Given the description of an element on the screen output the (x, y) to click on. 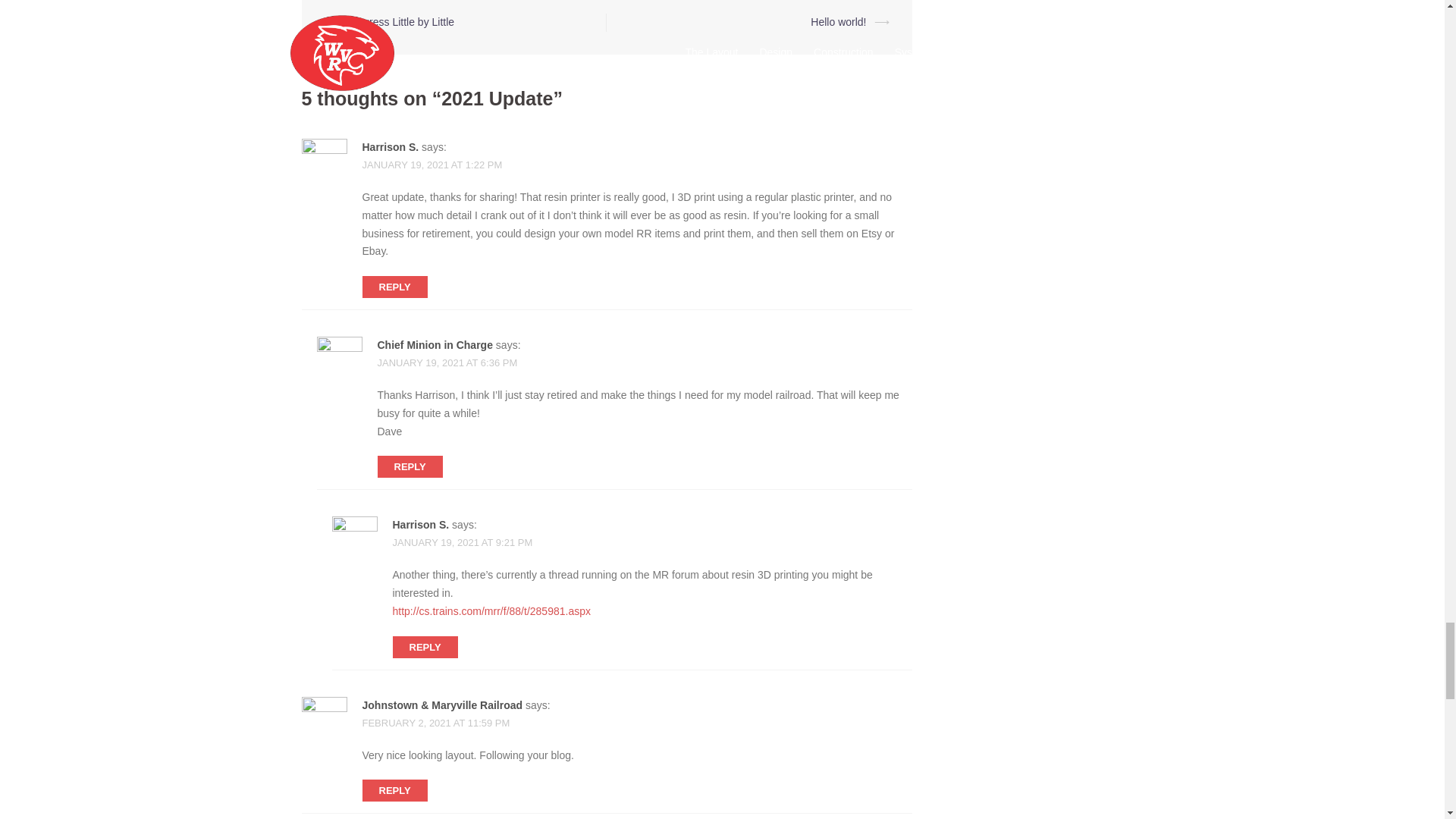
Chief Minion in Charge (435, 345)
Hello world! (838, 21)
JANUARY 19, 2021 AT 1:22 PM (432, 164)
Harrison S. (390, 146)
REPLY (395, 287)
JANUARY 19, 2021 AT 6:36 PM (447, 362)
Progress Little by Little (400, 21)
